Given the description of an element on the screen output the (x, y) to click on. 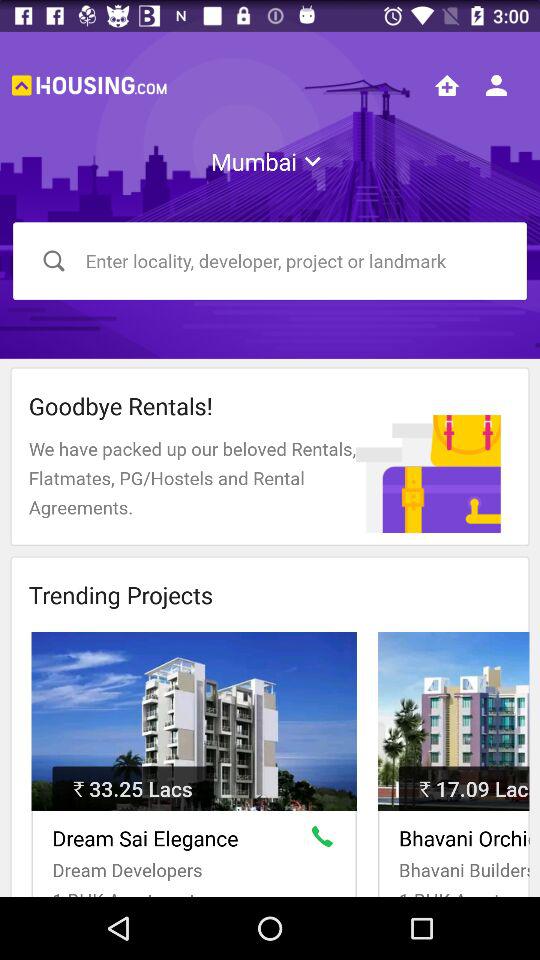
call this company (326, 840)
